Given the description of an element on the screen output the (x, y) to click on. 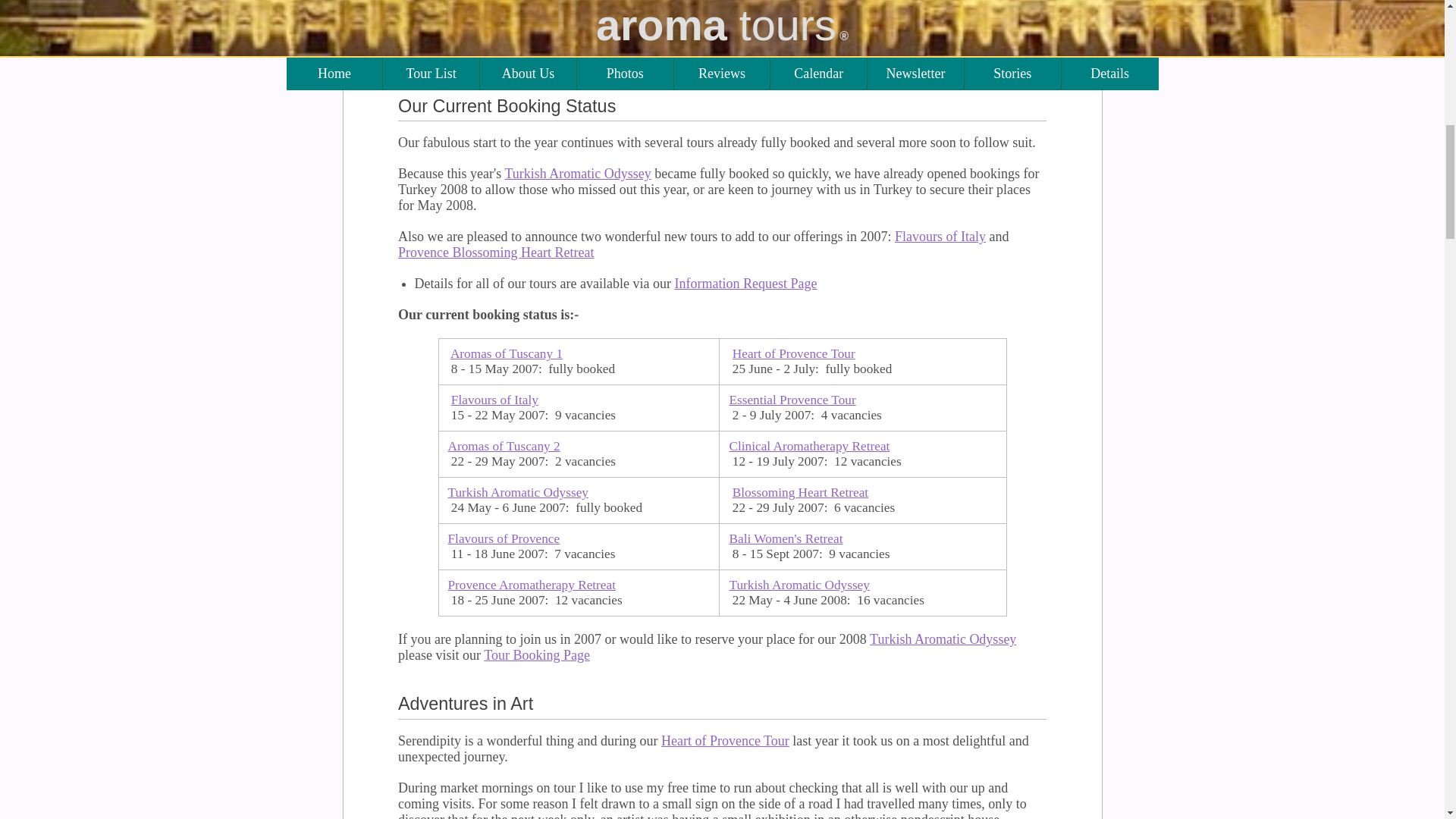
Aromas of Tuscany 1 (505, 353)
Clinical Aromatherapy Retreat (809, 445)
Picture Gallery Pages (597, 1)
picture speaks a thousand words (716, 49)
Turkish Aromatic Odyssey (517, 492)
Flavours of Provence (502, 538)
Flavours of Italy (494, 400)
Flavours of Italy (940, 236)
Information Request Page (745, 283)
Blossoming Heart Retreat (799, 492)
